Given the description of an element on the screen output the (x, y) to click on. 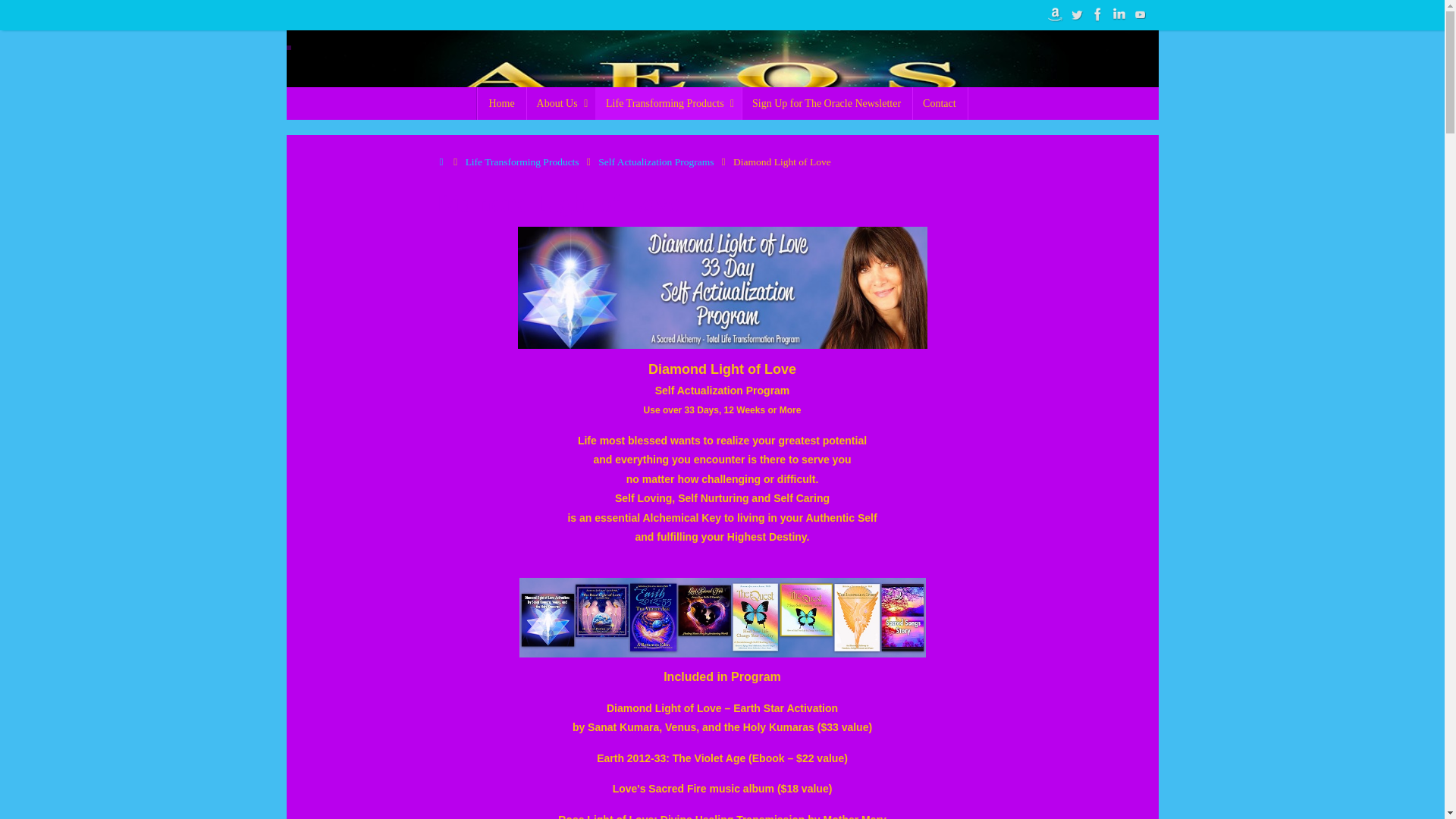
Amazon (1055, 14)
About Us (560, 102)
Facebook (1097, 14)
YouTube (1140, 14)
LinkedIn (1118, 14)
Home (501, 102)
Twitter (1076, 14)
